Given the description of an element on the screen output the (x, y) to click on. 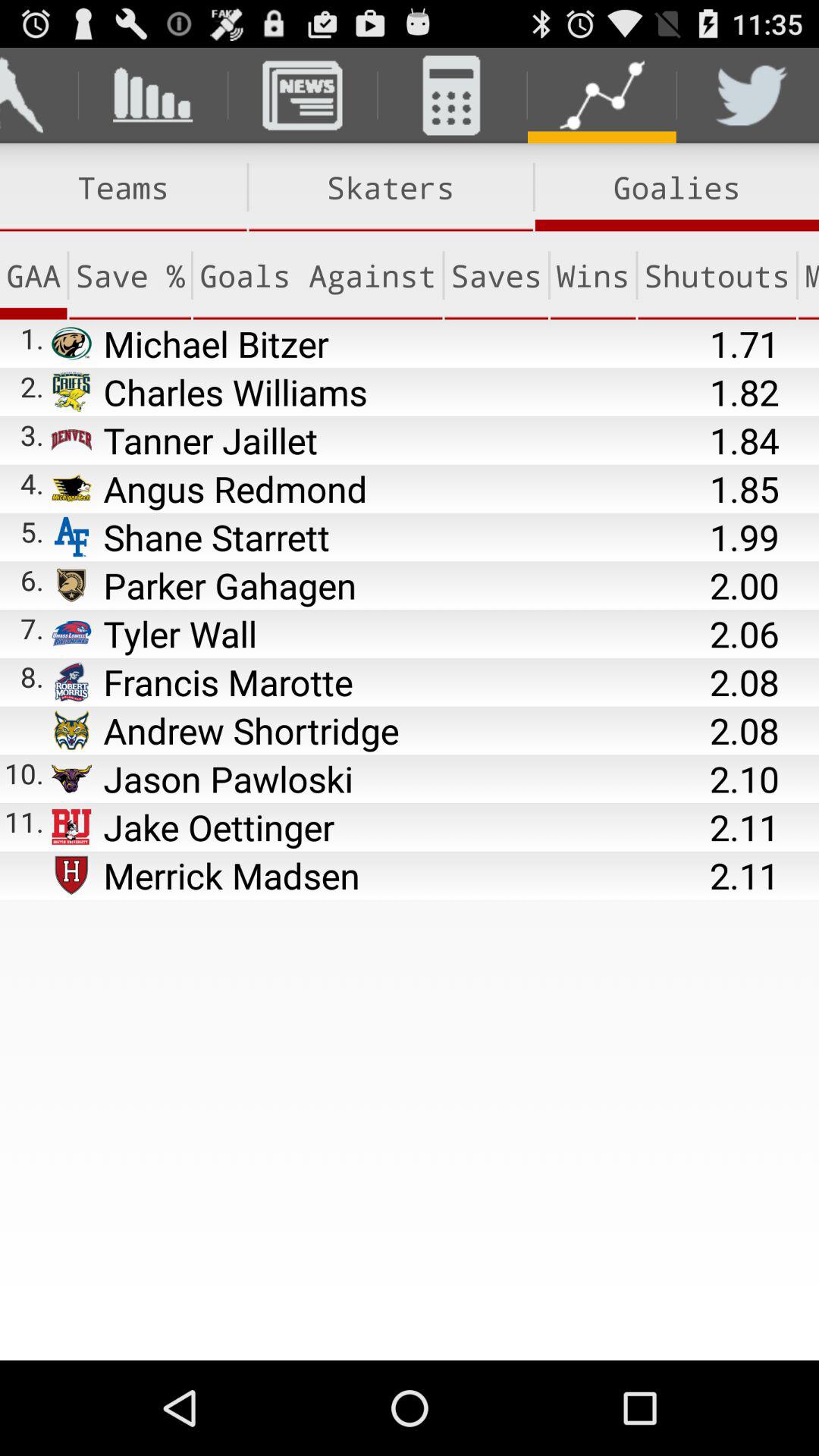
turn off teams item (123, 187)
